Given the description of an element on the screen output the (x, y) to click on. 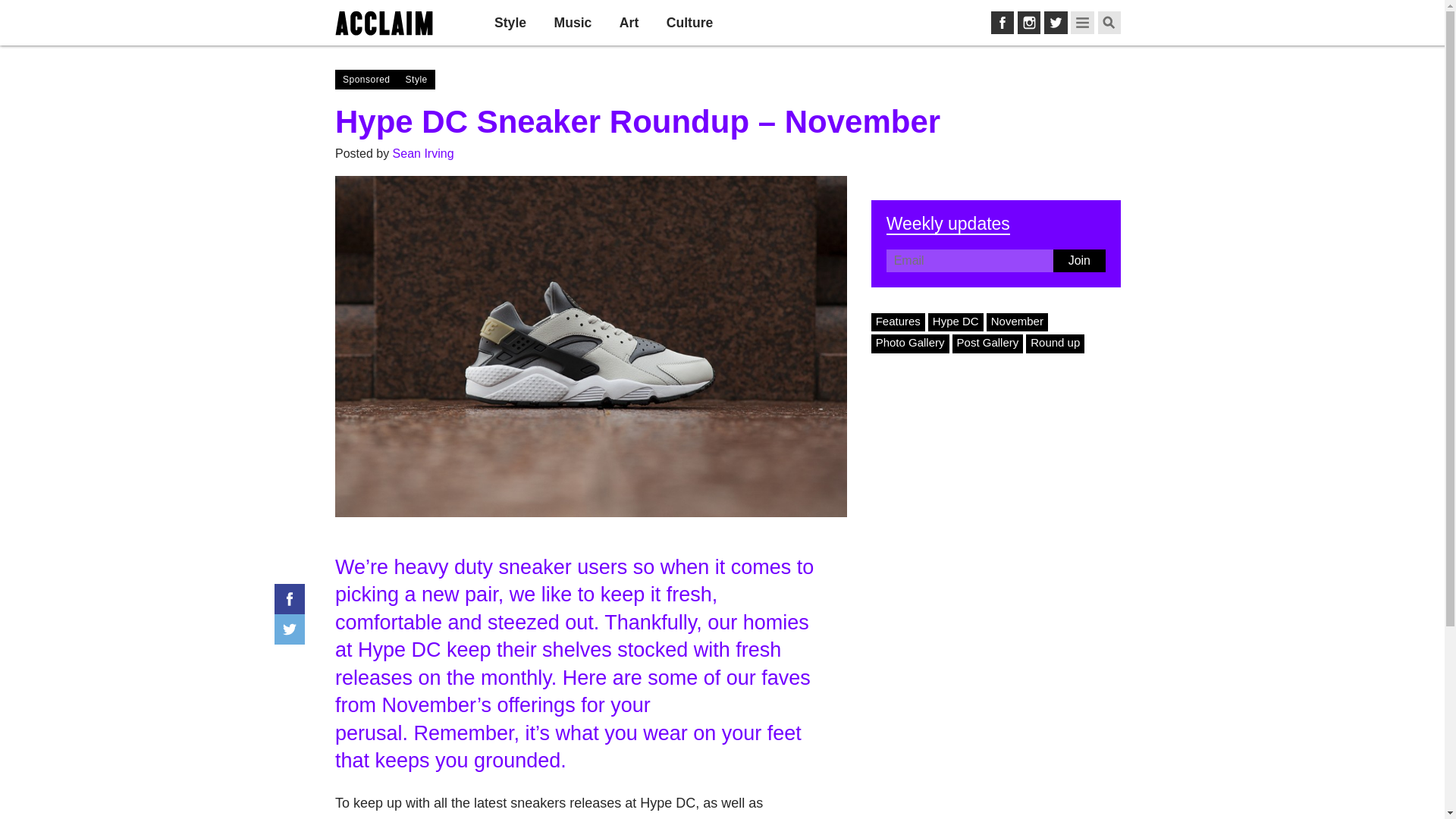
Join (892, 22)
Privacy Policy (1106, 22)
Culture (689, 22)
Music (573, 22)
Style (510, 22)
Join (1078, 260)
Advertise (1034, 22)
Advertise on Acclaim (1034, 22)
Contact Us (977, 22)
Sean Irving (423, 153)
See all Art posts (629, 22)
See all Style posts (510, 22)
See all Music posts (573, 22)
See all Culture posts (689, 22)
Privacy Policy (1106, 22)
